Given the description of an element on the screen output the (x, y) to click on. 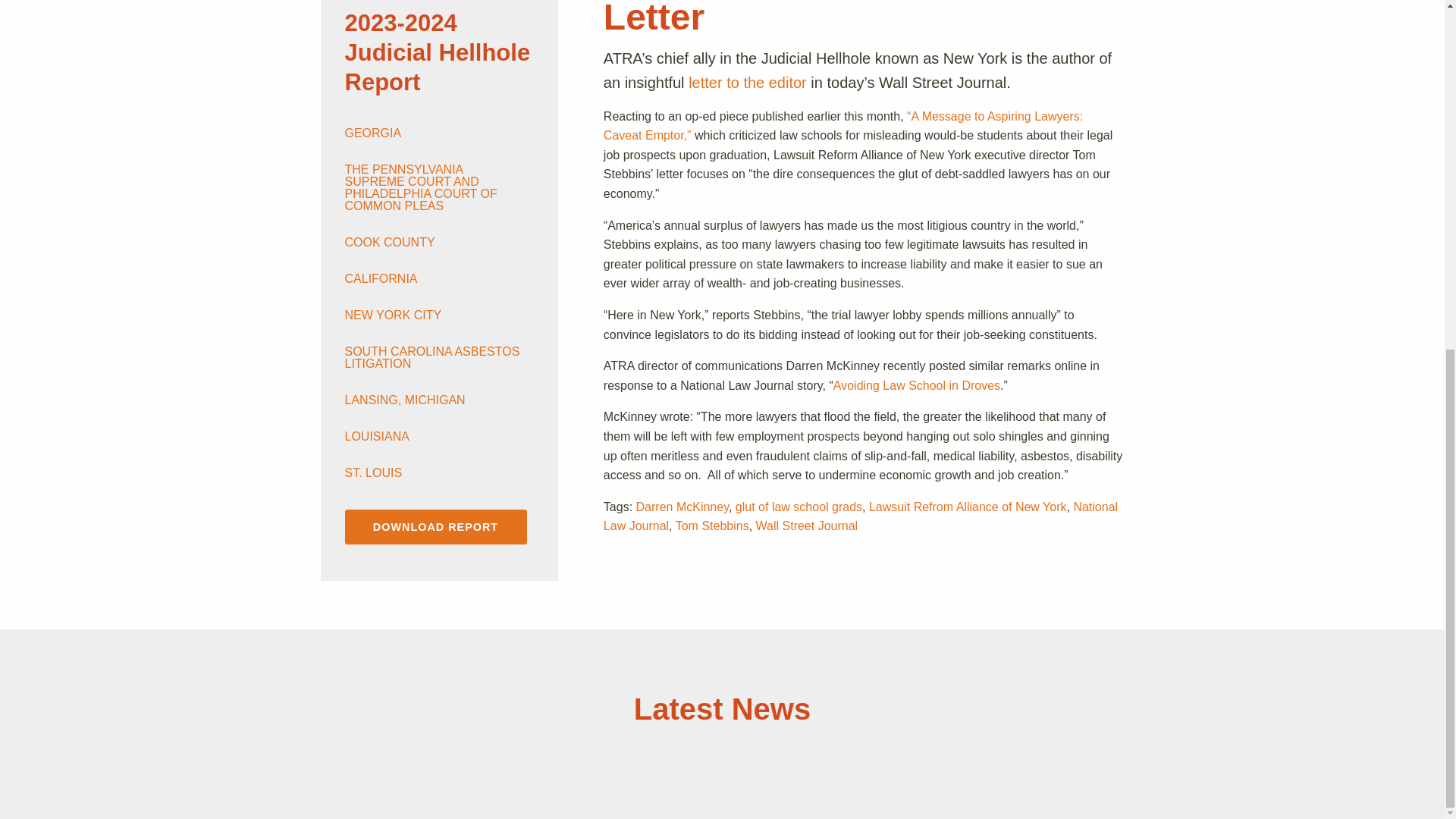
GEORGIA (432, 133)
NEW YORK CITY (432, 315)
LANSING, MICHIGAN (432, 399)
LOUISIANA (432, 436)
COOK COUNTY (432, 242)
CALIFORNIA (432, 278)
SOUTH CAROLINA ASBESTOS LITIGATION (432, 357)
